Given the description of an element on the screen output the (x, y) to click on. 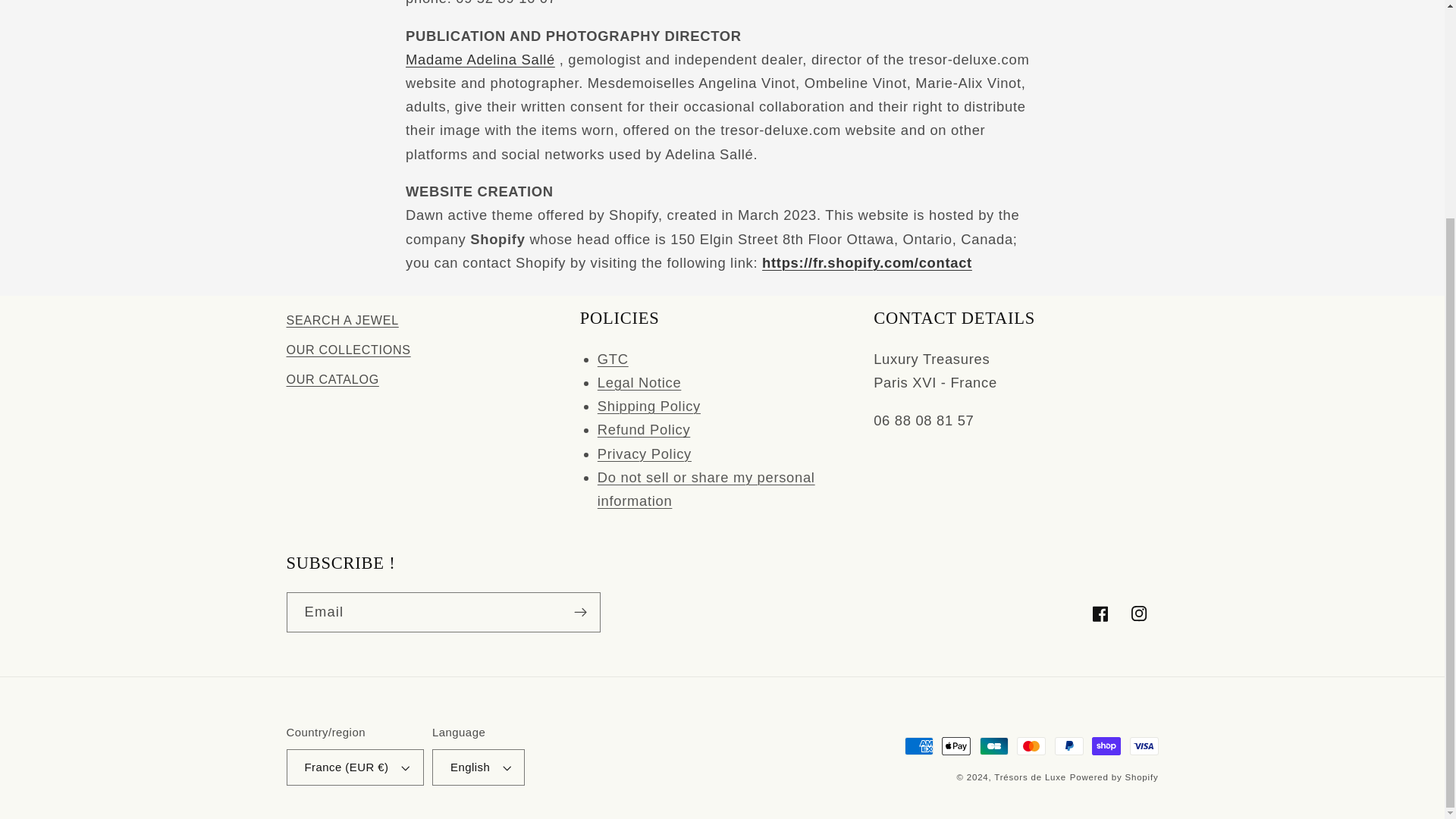
GTC (612, 358)
Legal Notice (638, 382)
Do not sell or share my personal information (705, 488)
Privacy Policy (643, 453)
Shipping Policy (648, 406)
Refund Policy (643, 429)
